Given the description of an element on the screen output the (x, y) to click on. 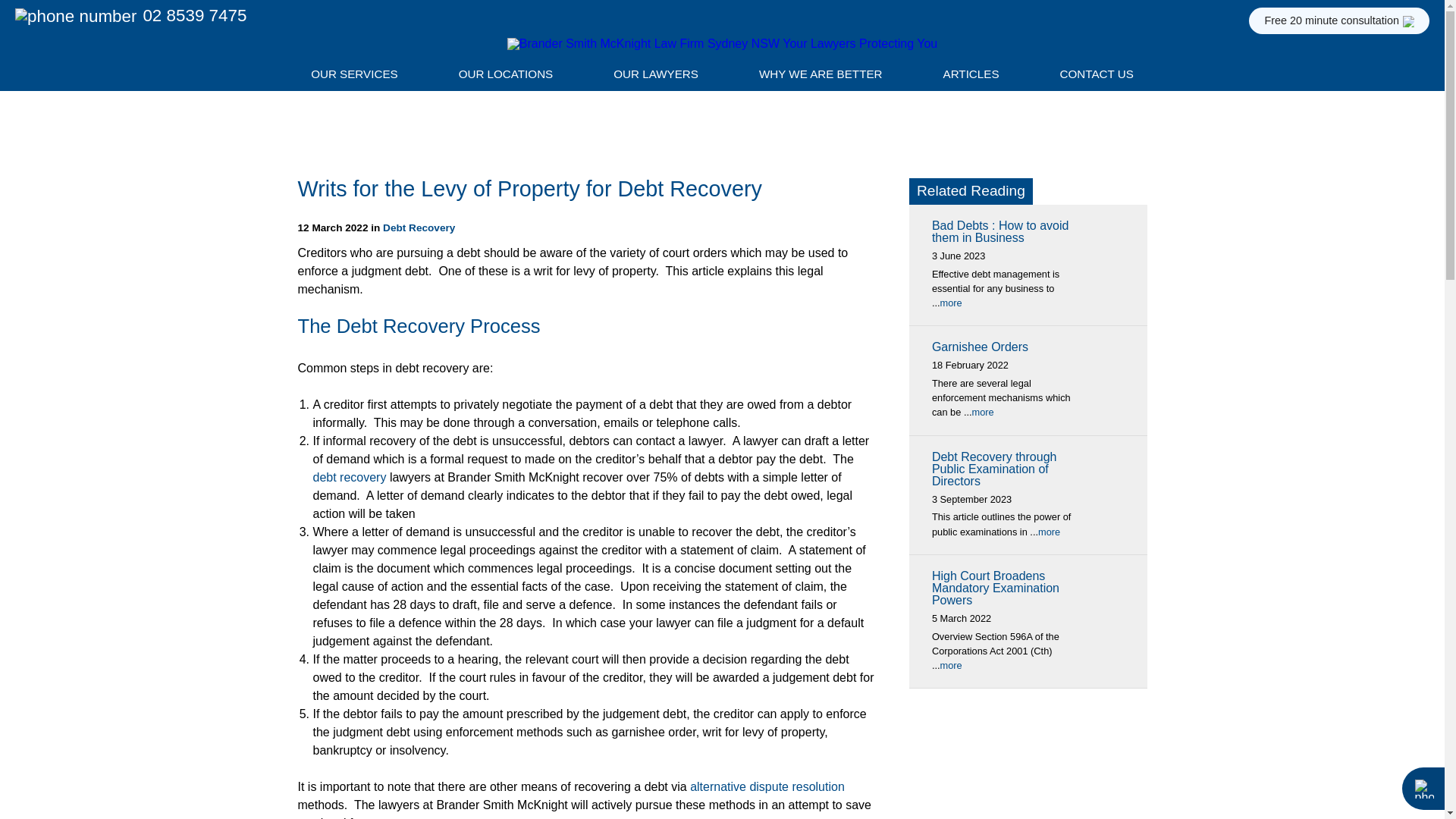
debt recovery (349, 477)
WHY WE ARE BETTER (820, 78)
alternative dispute resolution (767, 786)
CONTACT US (1096, 78)
Garnishee Orders (979, 346)
Debt Recovery (418, 227)
ARTICLES (970, 78)
Debt Recovery through Public Examination of Directors (994, 468)
more (951, 302)
02 8539 7475 (130, 15)
